Given the description of an element on the screen output the (x, y) to click on. 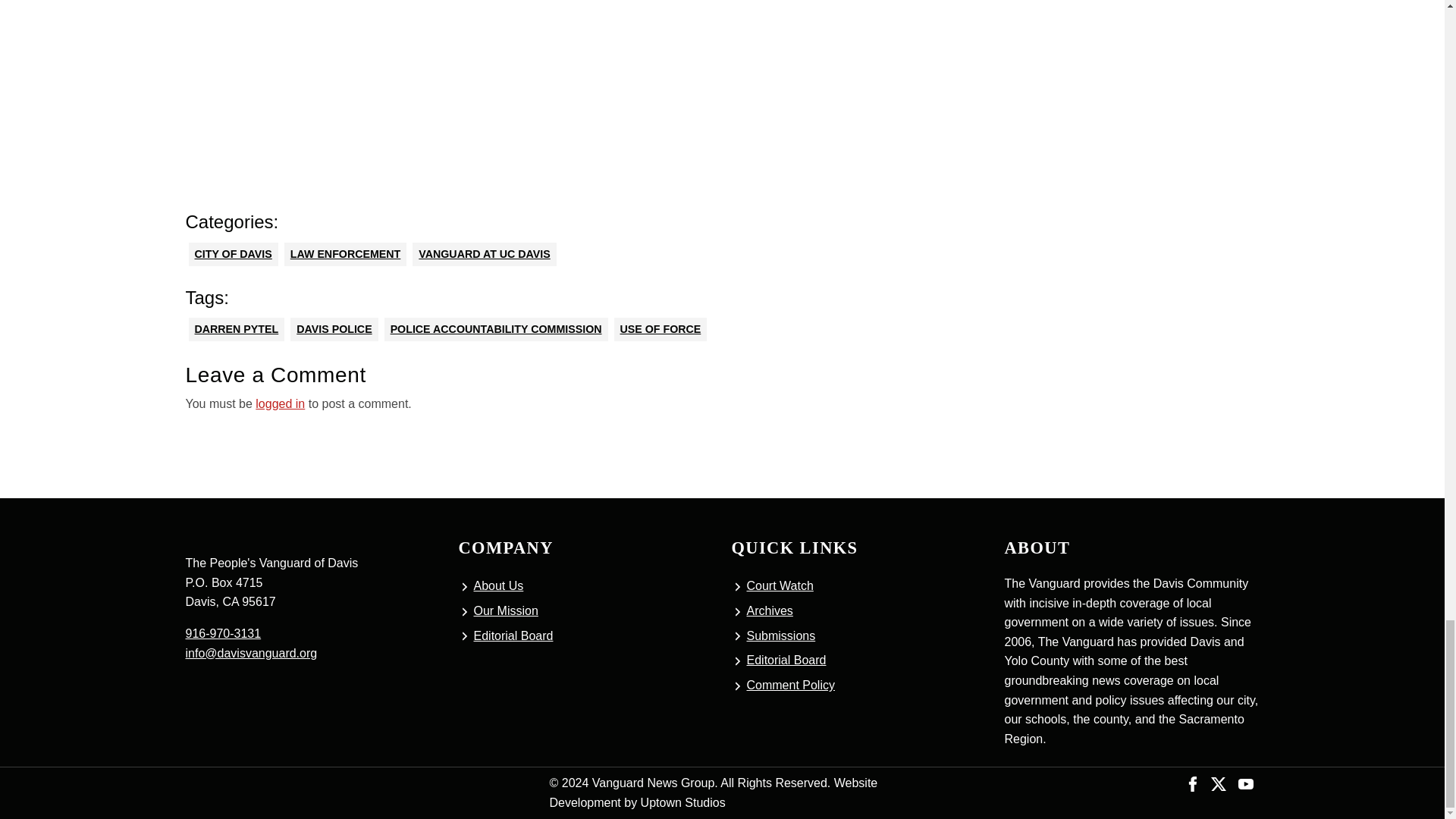
Twitter (1218, 782)
YouTube (1245, 782)
Facebook (1192, 782)
